Given the description of an element on the screen output the (x, y) to click on. 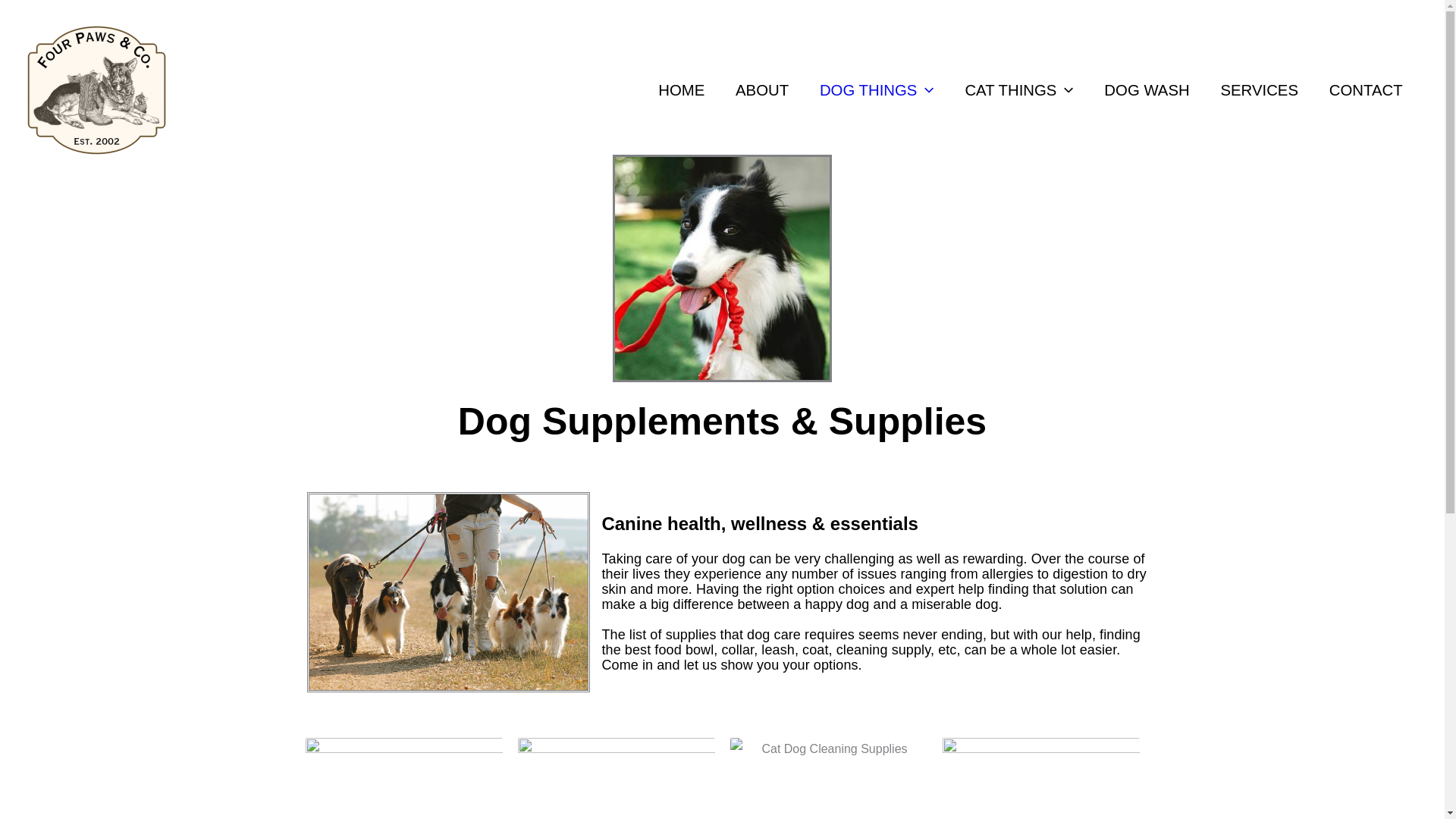
DOG WASH (1147, 88)
ABOUT (762, 88)
SERVICES (1259, 88)
HOME (681, 88)
DOG THINGS (877, 88)
CAT THINGS (1019, 88)
CONTACT (1365, 88)
